Given the description of an element on the screen output the (x, y) to click on. 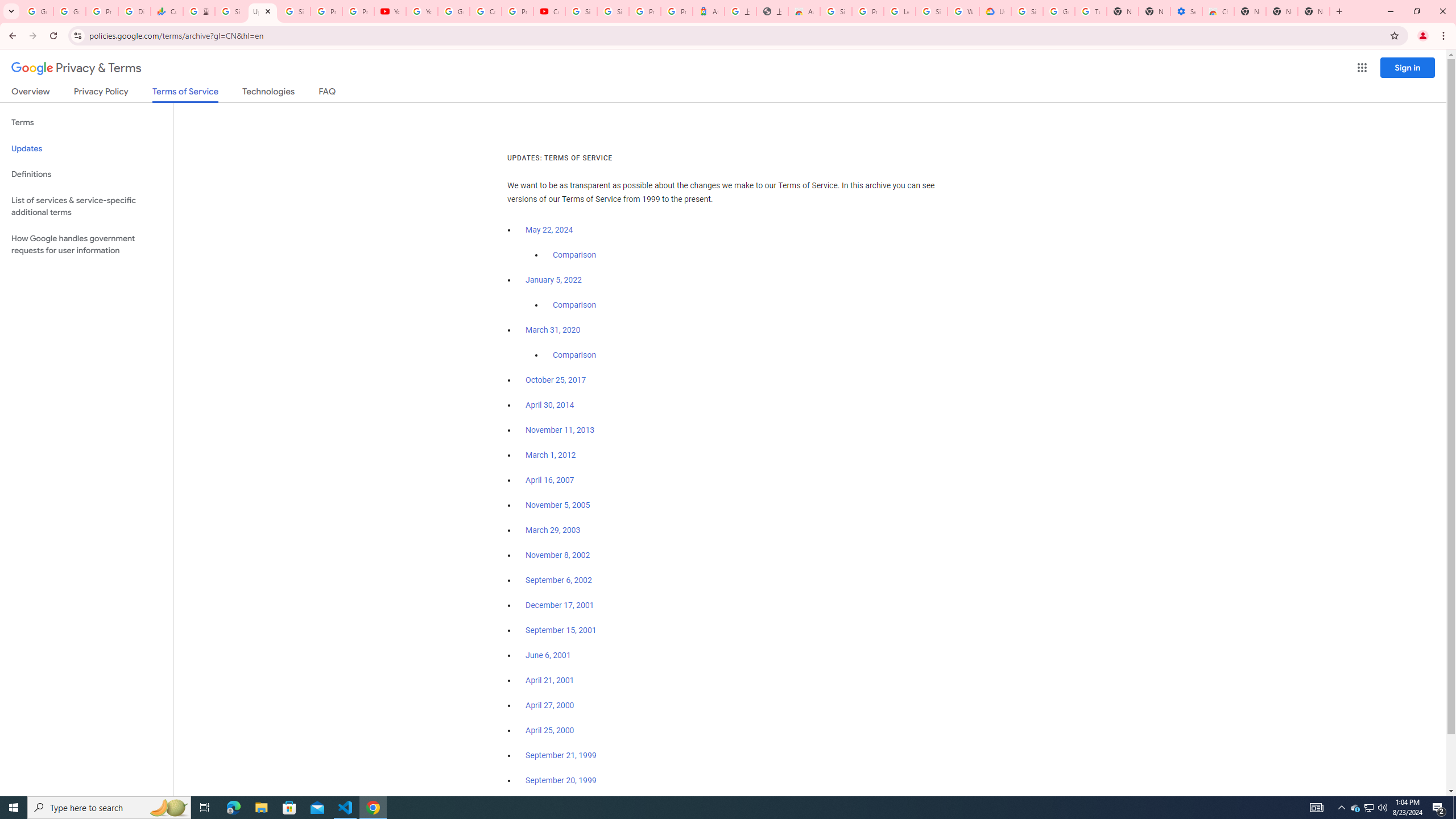
April 27, 2000 (550, 705)
September 6, 2002 (558, 579)
March 31, 2020 (552, 330)
Create your Google Account (485, 11)
Google Account Help (1059, 11)
September 20, 1999 (560, 780)
December 17, 2001 (559, 605)
Comparison (574, 355)
April 16, 2007 (550, 480)
